Given the description of an element on the screen output the (x, y) to click on. 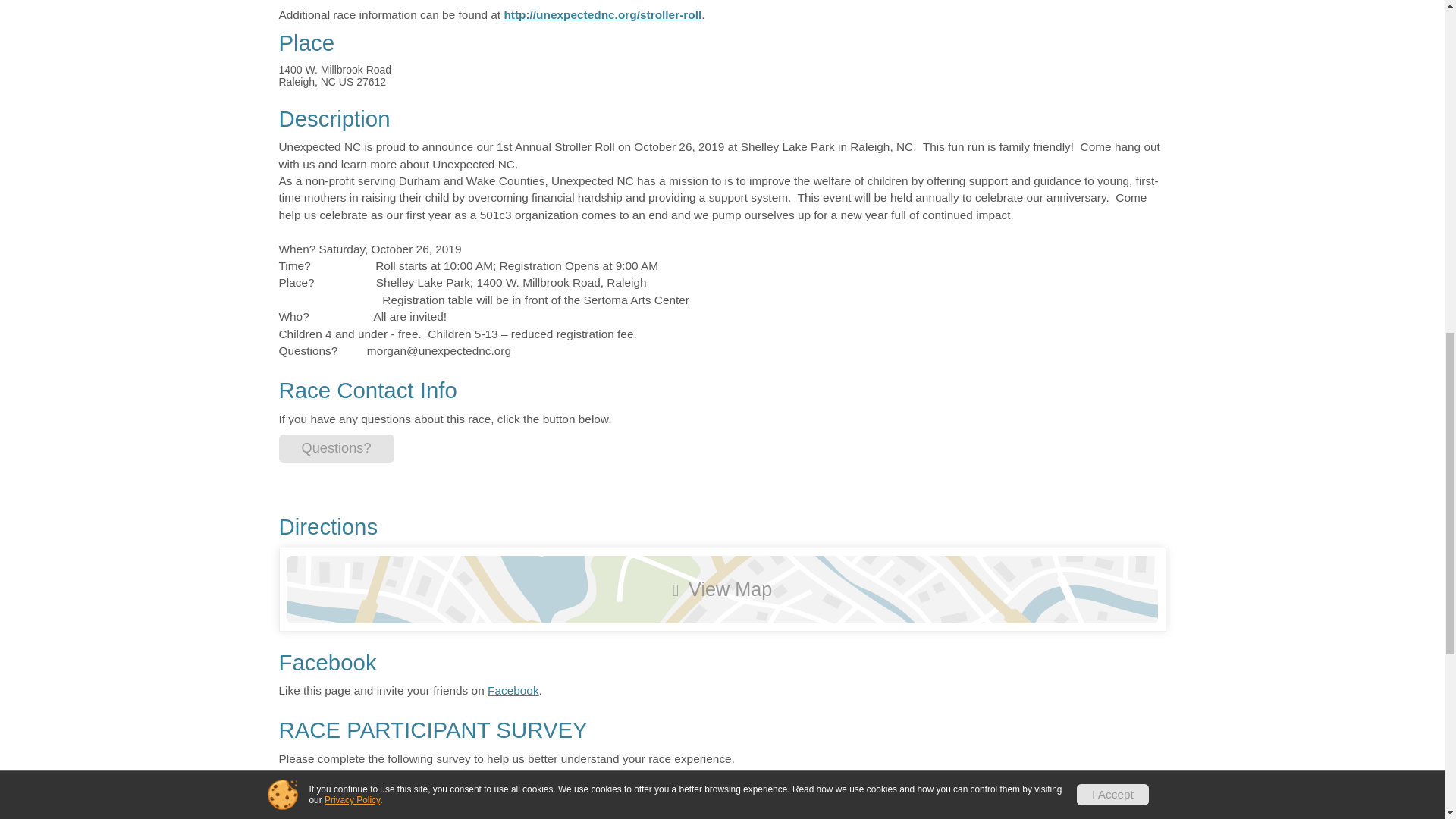
Questions? (336, 448)
View Map (721, 589)
Facebook (512, 689)
